Given the description of an element on the screen output the (x, y) to click on. 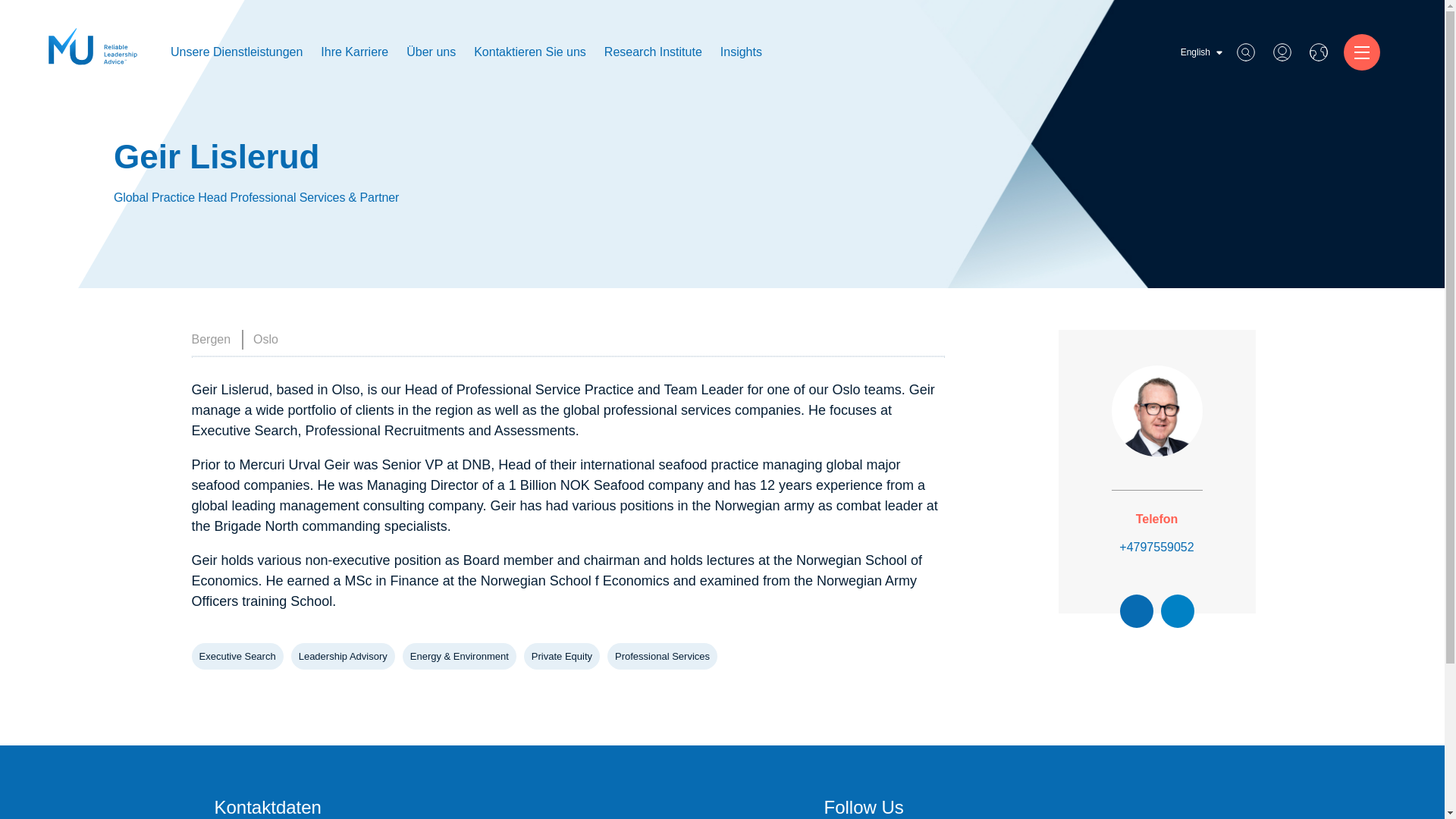
Mercuri Urval Logo (92, 51)
Unsere Dienstleistungen (236, 51)
ESG (194, 354)
Unsere Vision (451, 233)
Our Values and Code of Conduct (496, 233)
Ihre Karriere (354, 51)
Financial Services (226, 354)
Energie (201, 354)
Unsere Geschichte (463, 233)
Mercuri Urval Logo (92, 46)
Unsere ethischen Standards (486, 233)
Mercuri Urval Logo (92, 46)
